Given the description of an element on the screen output the (x, y) to click on. 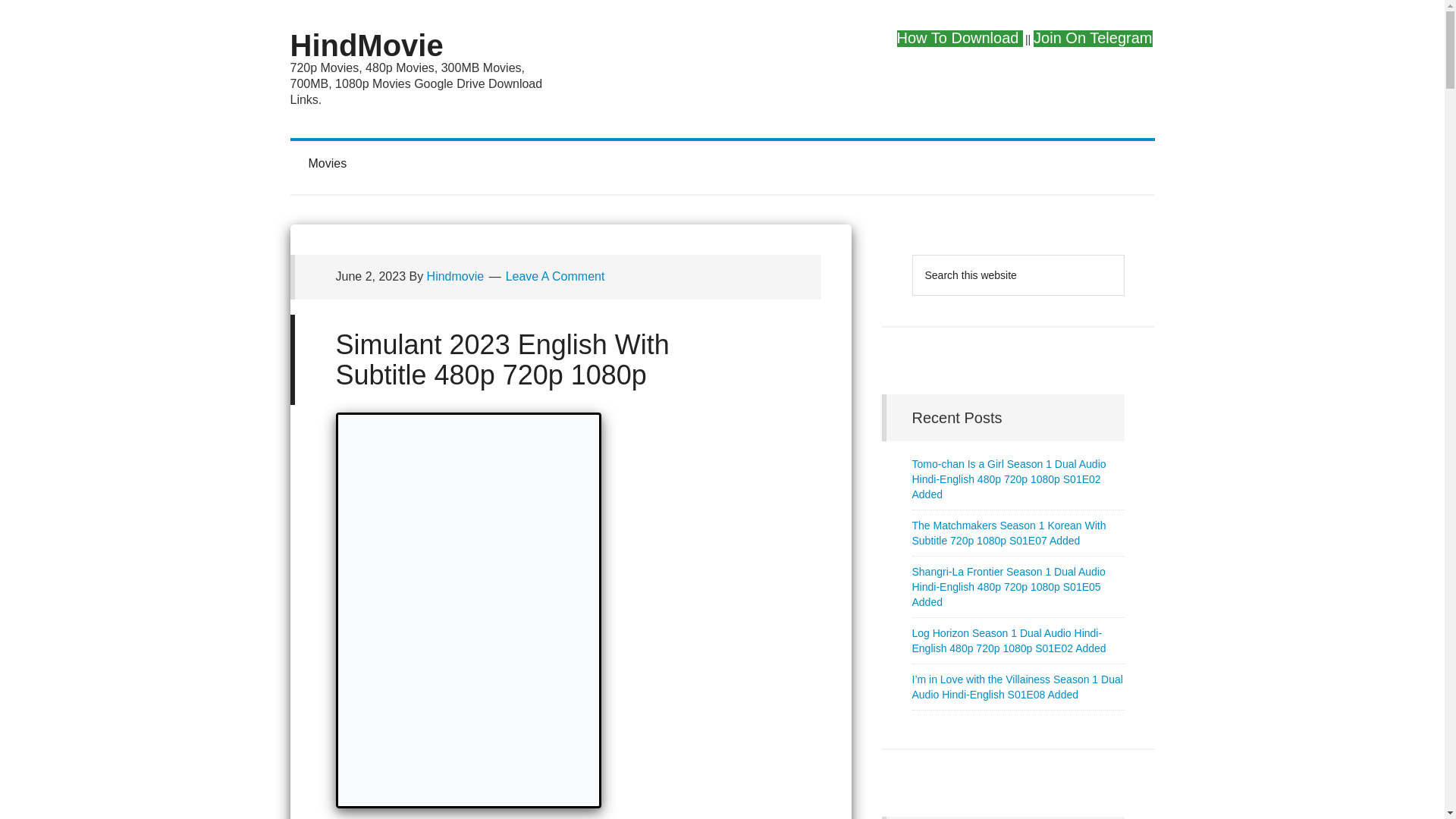
Movies Element type: text (326, 163)
Join On Telegram Element type: text (1092, 36)
Leave A Comment Element type: text (555, 275)
HindMovie Element type: text (365, 45)
Search Element type: text (1123, 254)
Simulant 2023 English With Subtitle 480p 720p 1080p Element type: text (501, 359)
How To Download Element type: text (959, 36)
Hindmovie Element type: text (455, 275)
